Given the description of an element on the screen output the (x, y) to click on. 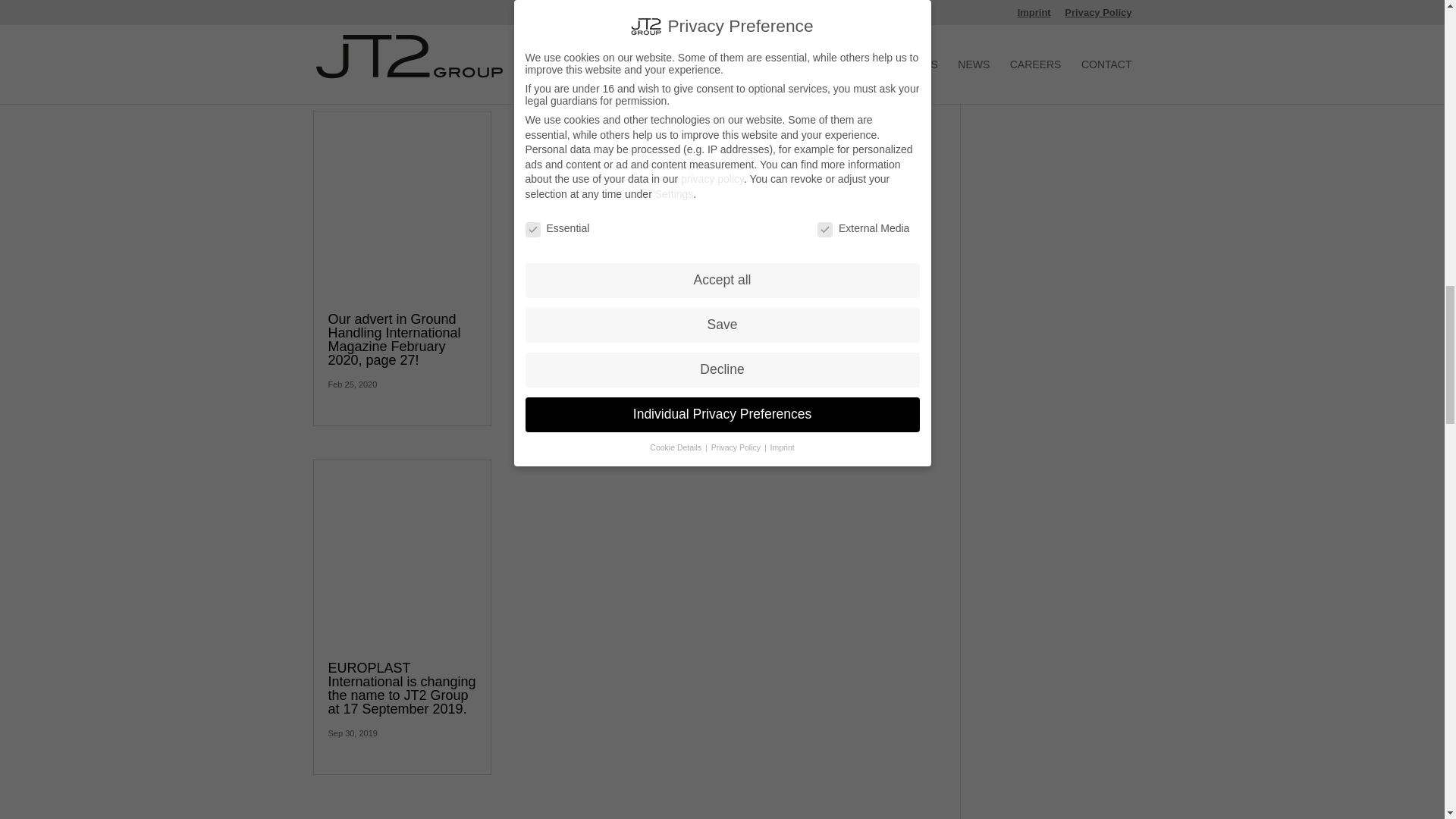
Our seaport bridge at work in USA! (392, 9)
